Given the description of an element on the screen output the (x, y) to click on. 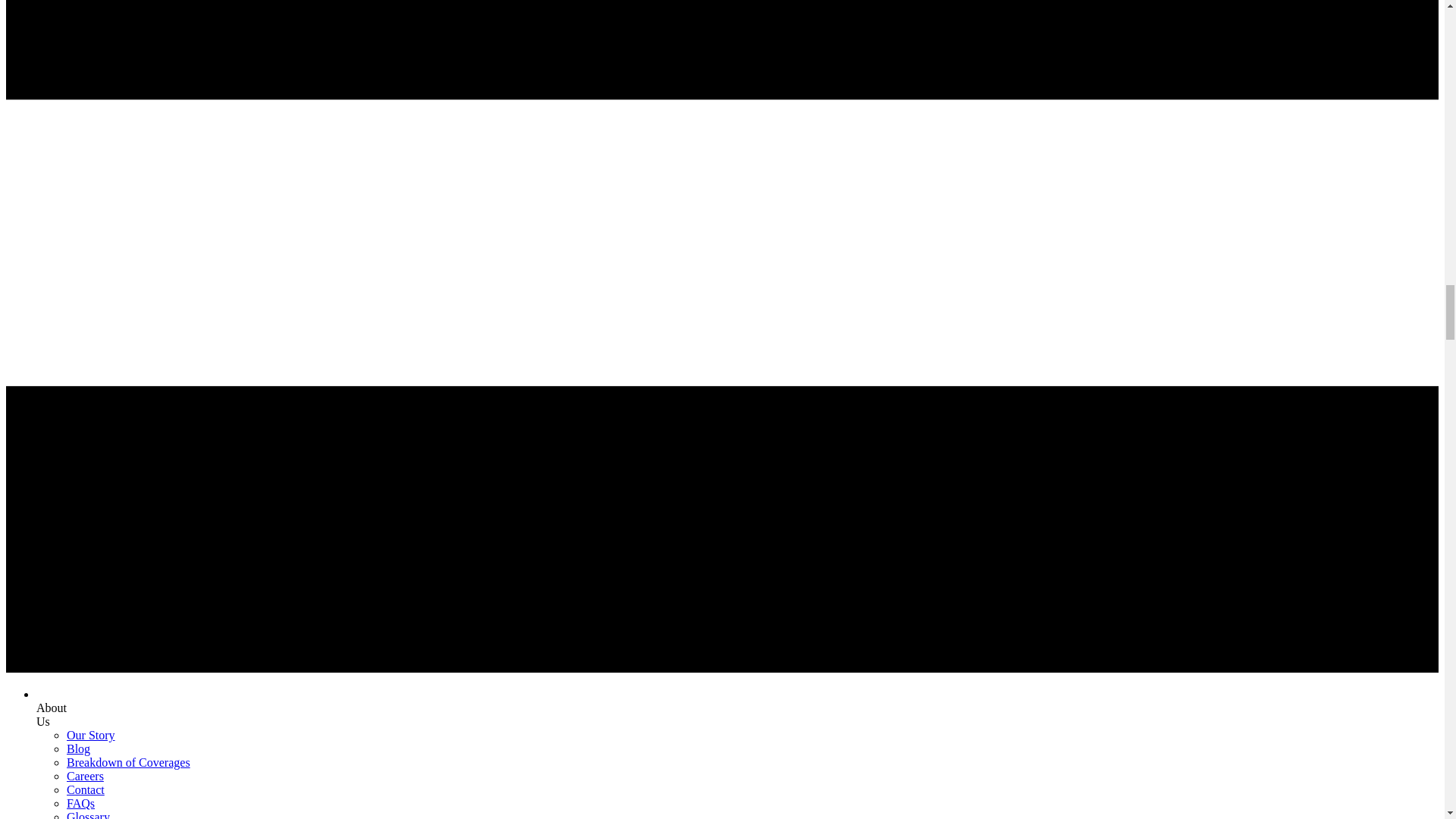
Careers (84, 775)
Blog (78, 748)
Breakdown of Coverages (128, 762)
FAQs (80, 802)
Our Story (90, 735)
Glossary (88, 814)
Contact (85, 789)
